Given the description of an element on the screen output the (x, y) to click on. 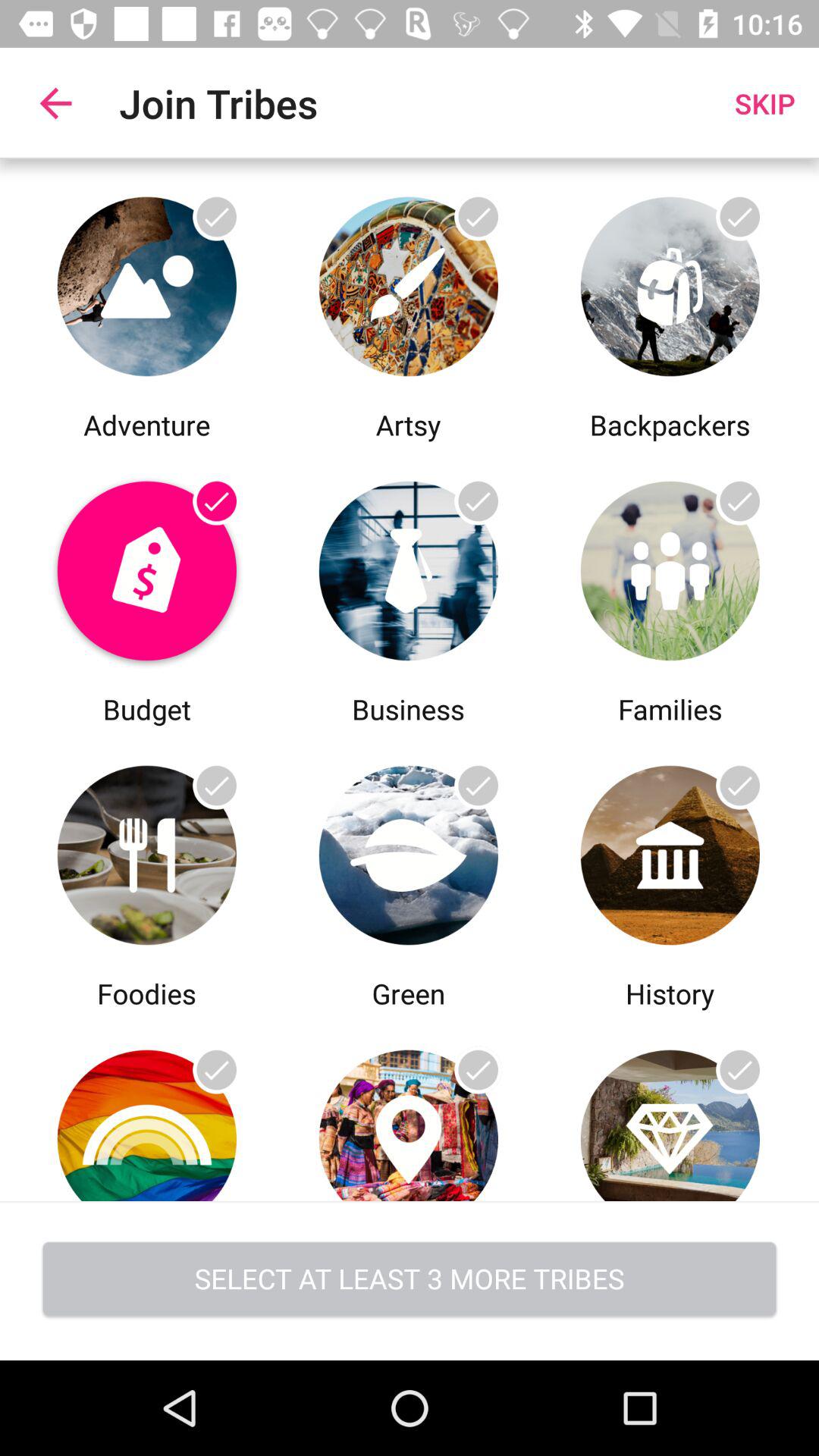
backpackers select option (669, 282)
